Given the description of an element on the screen output the (x, y) to click on. 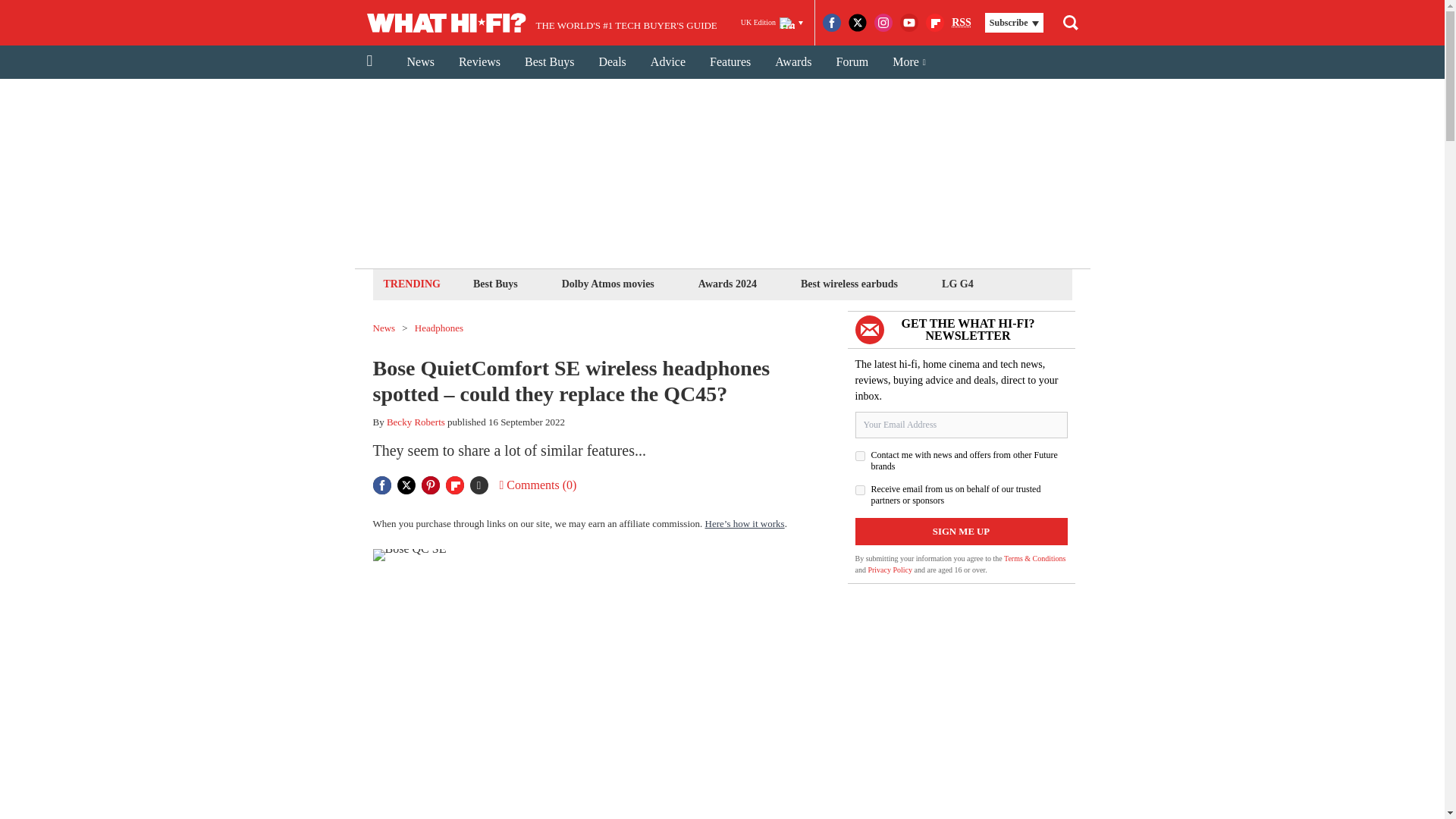
News (419, 61)
Awards 2024 (727, 283)
Becky Roberts (416, 421)
Advice (668, 61)
Sign me up (961, 531)
Deals (611, 61)
RSS (961, 22)
Awards (793, 61)
Headphones (438, 327)
Best Buys (494, 283)
Features (729, 61)
Really Simple Syndication (961, 21)
on (860, 456)
Forum (852, 61)
LG G4 (957, 283)
